Given the description of an element on the screen output the (x, y) to click on. 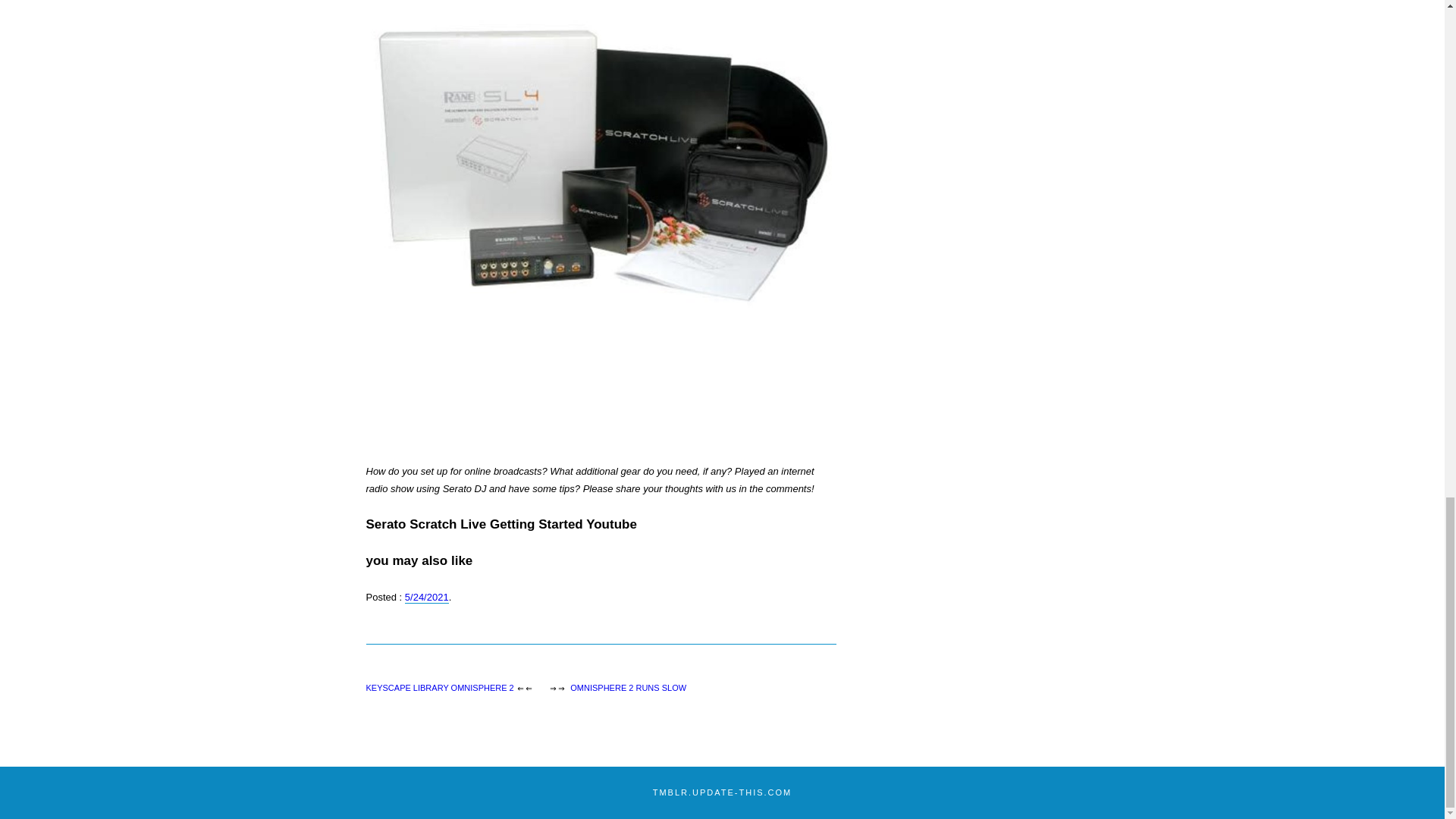
TMBLR.UPDATE-THIS.COM (722, 791)
OMNISPHERE 2 RUNS SLOW (627, 687)
KEYSCAPE LIBRARY OMNISPHERE 2 (439, 687)
